Given the description of an element on the screen output the (x, y) to click on. 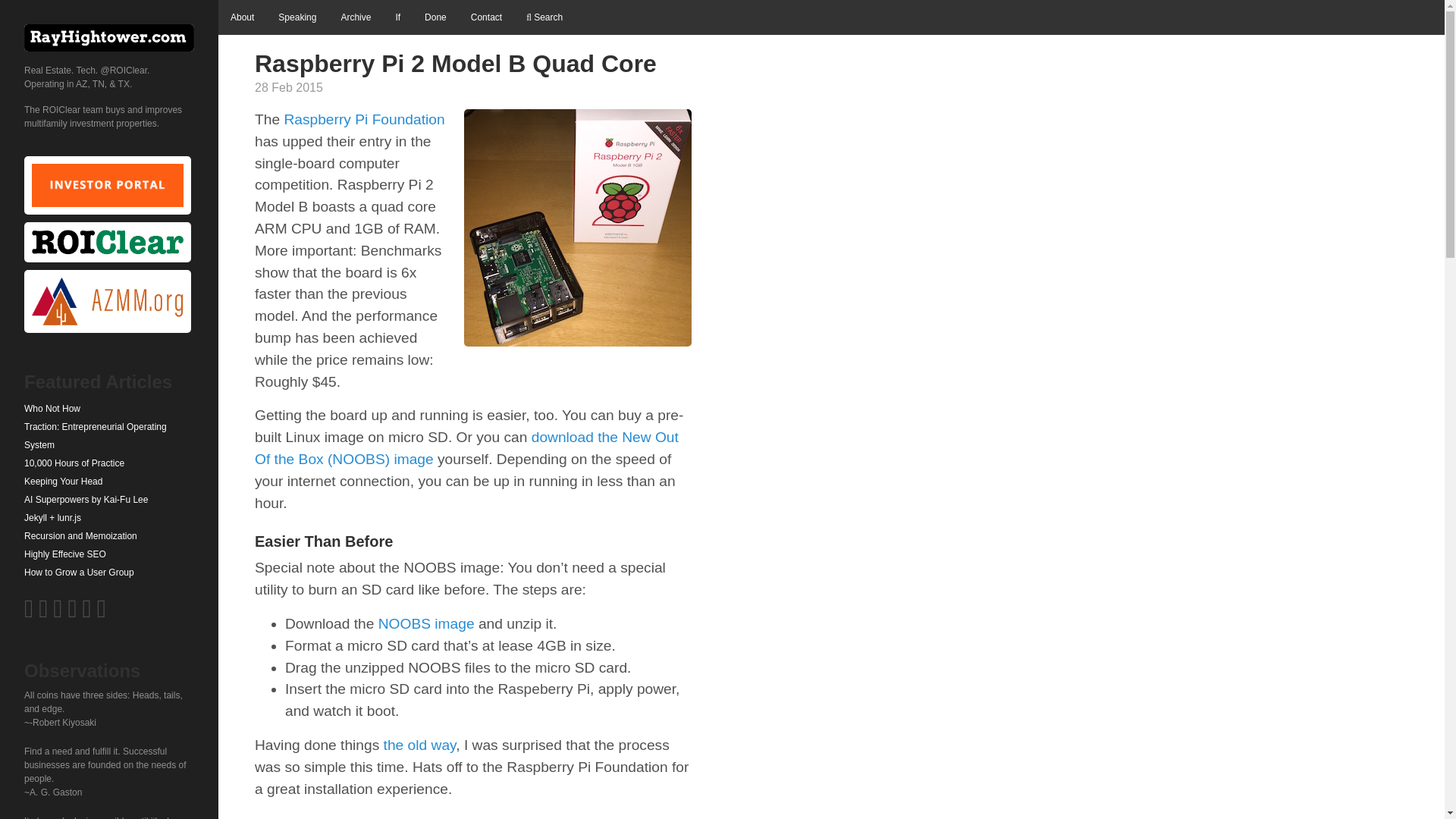
Done (435, 17)
NOOBS image (426, 623)
Contact (485, 17)
Traction: Entrepreneurial Operating System (108, 435)
How to Grow a User Group (108, 572)
Investor Portal: ROIClear (107, 185)
Keeping Your Head (108, 481)
AI Superpowers by Kai-Fu Lee (108, 499)
Speaking (297, 17)
